Given the description of an element on the screen output the (x, y) to click on. 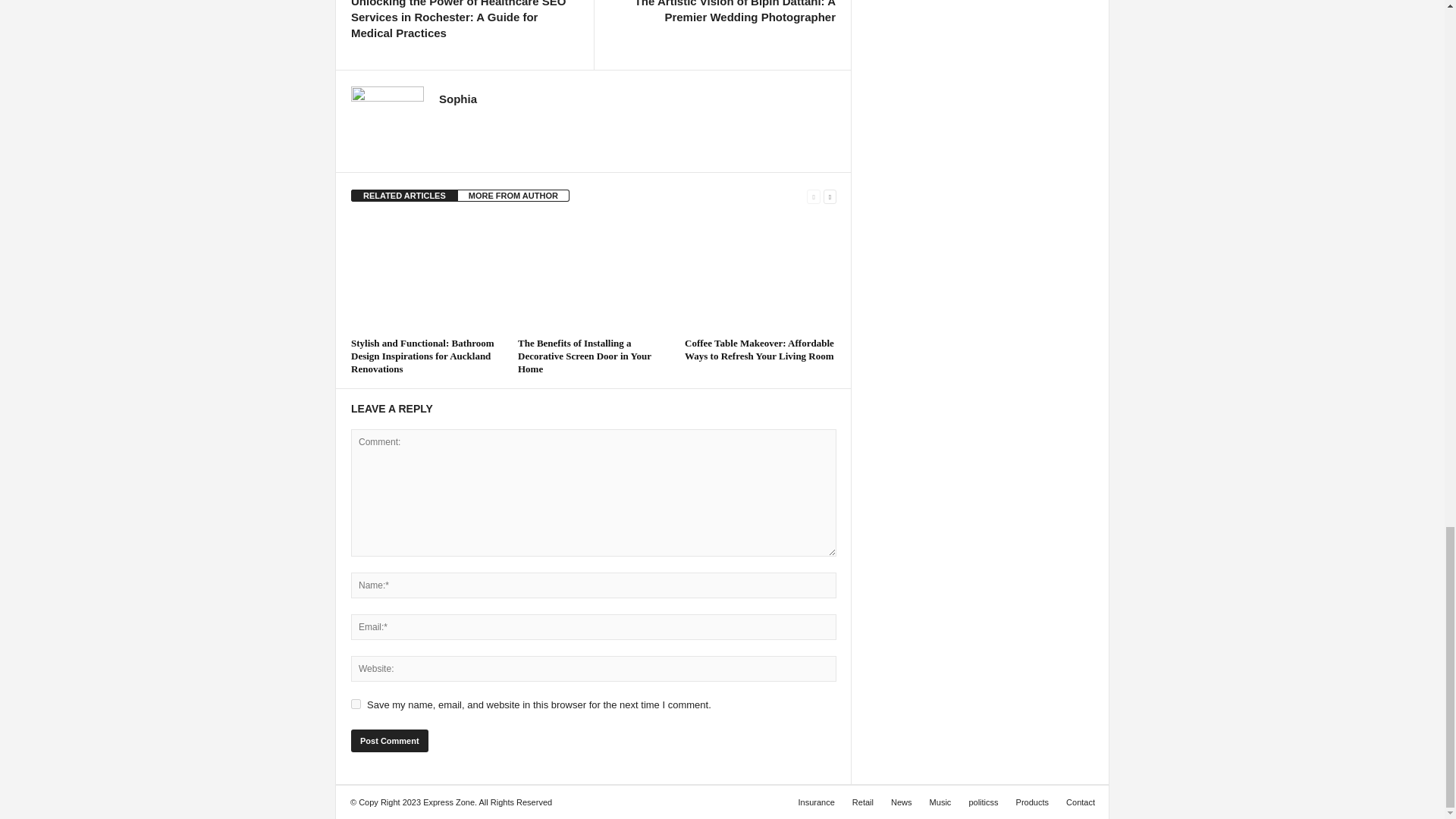
Post Comment (389, 740)
yes (355, 704)
